Given the description of an element on the screen output the (x, y) to click on. 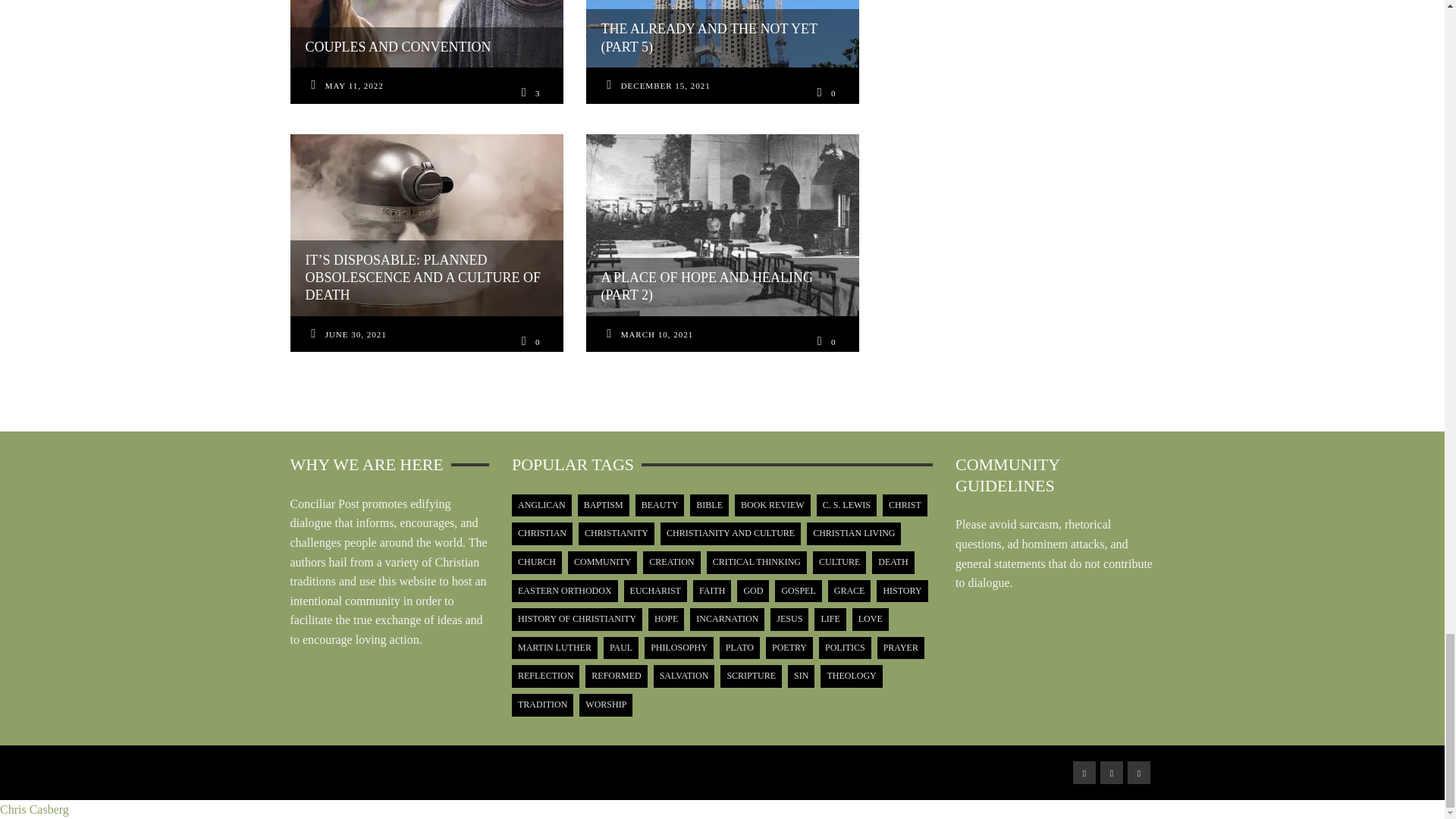
Permalink to Couples and Convention (354, 86)
